Given the description of an element on the screen output the (x, y) to click on. 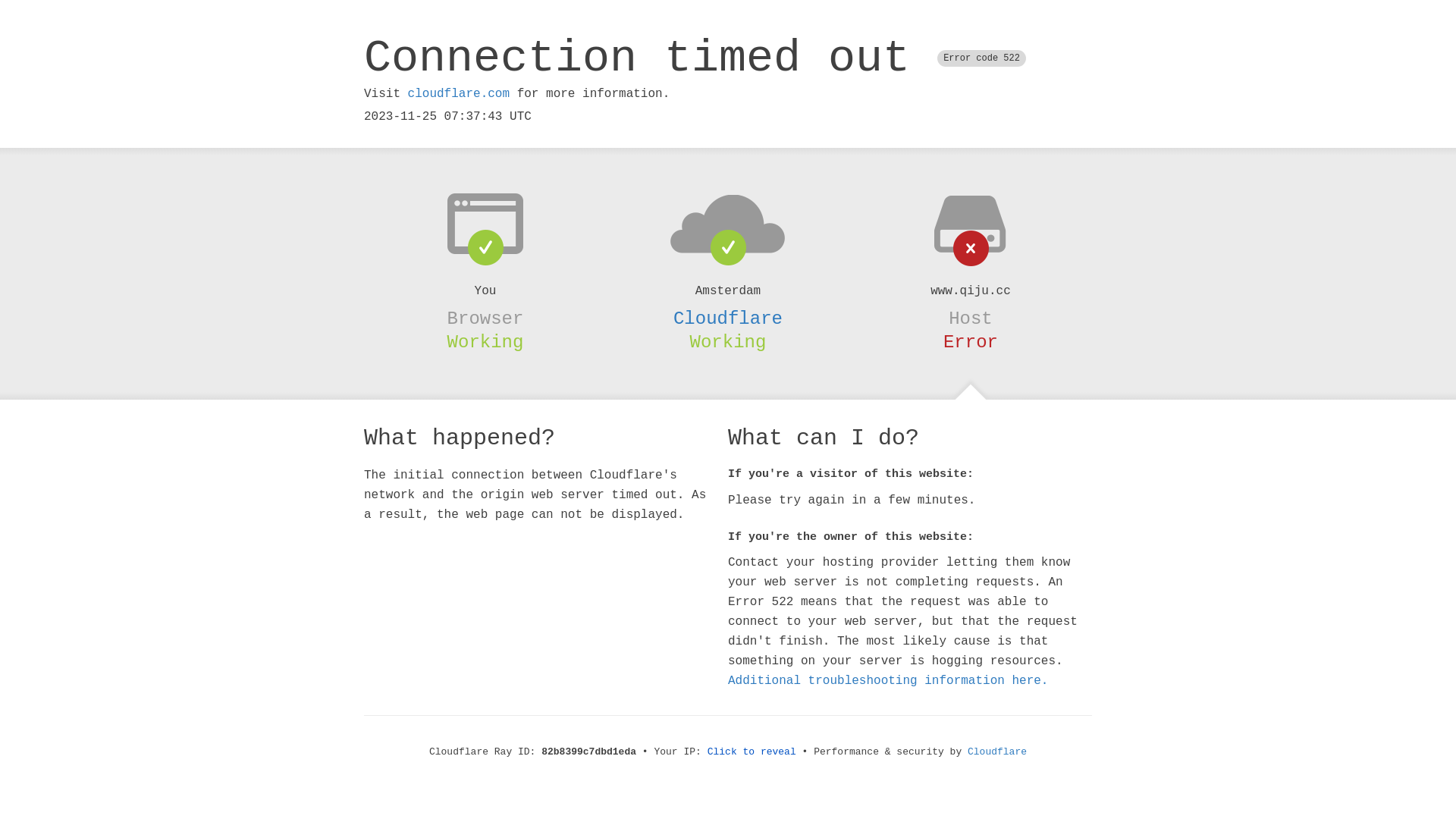
Additional troubleshooting information here. Element type: text (888, 680)
cloudflare.com Element type: text (458, 93)
Click to reveal Element type: text (751, 751)
Cloudflare Element type: text (727, 318)
Cloudflare Element type: text (996, 751)
